Given the description of an element on the screen output the (x, y) to click on. 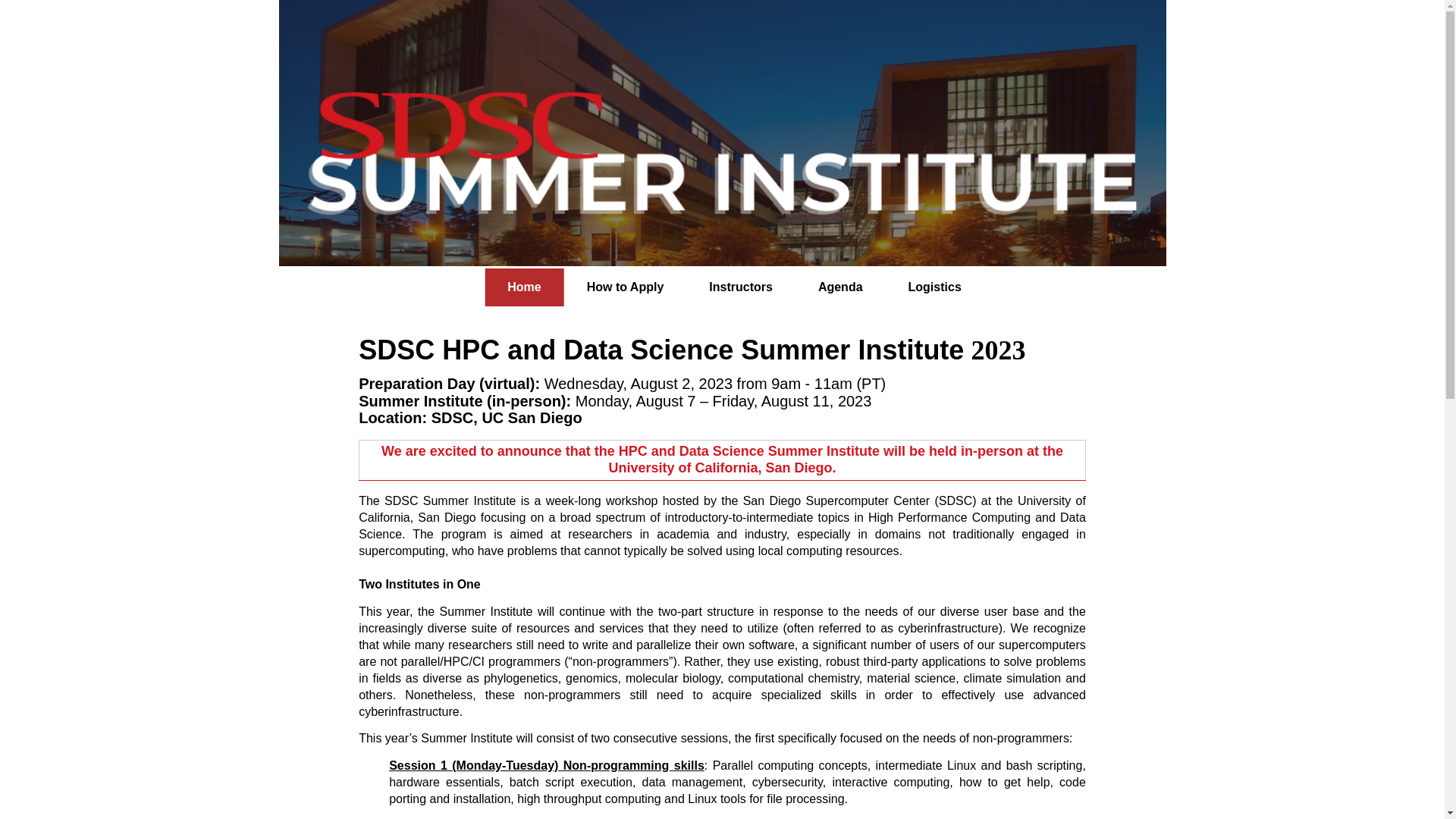
Instructors (739, 287)
Home (523, 287)
Logistics (934, 287)
Agenda (839, 287)
How to Apply (625, 287)
